Given the description of an element on the screen output the (x, y) to click on. 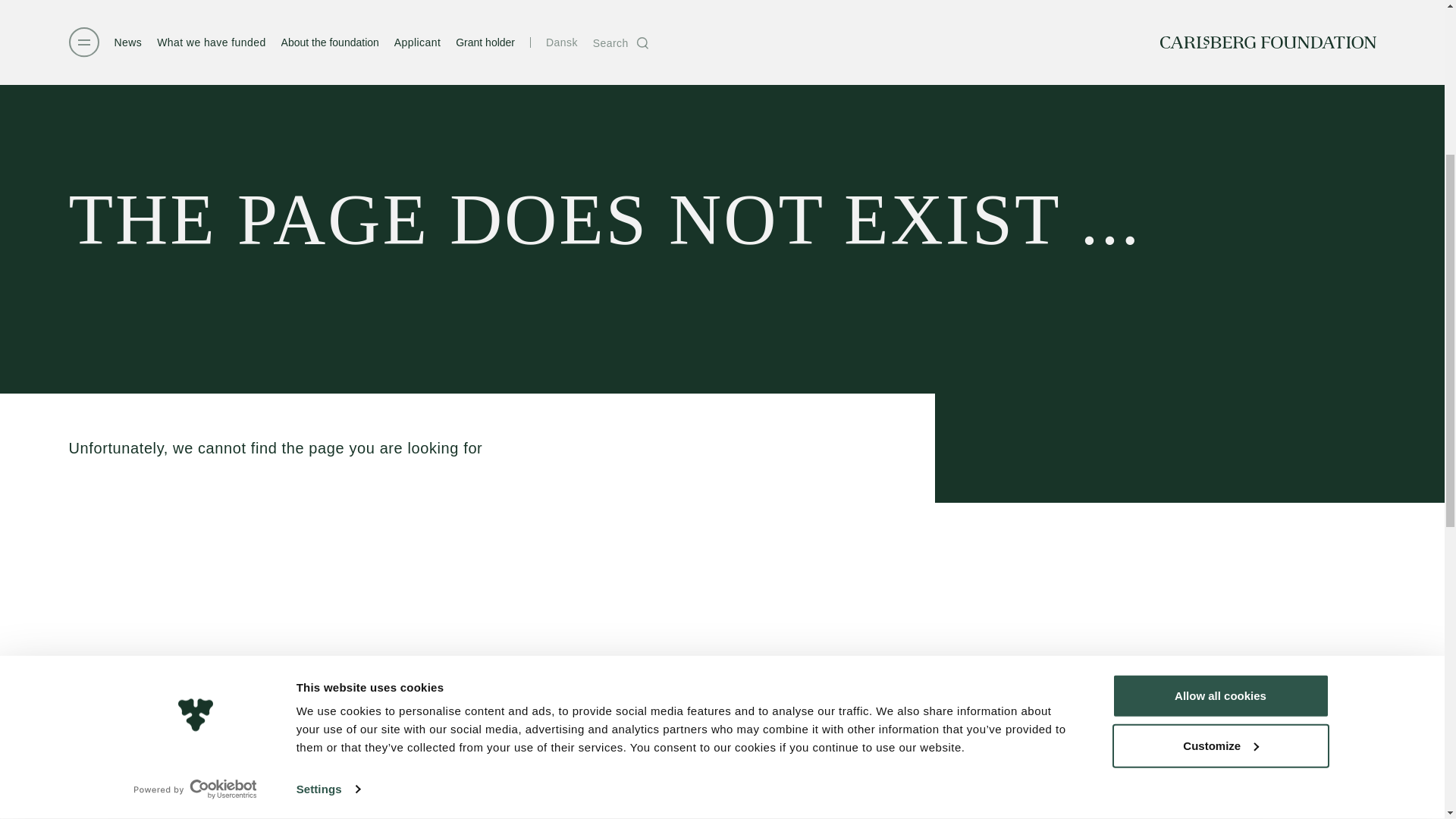
Customize (1219, 429)
Allow all cookies (1219, 379)
Settings (328, 472)
